Given the description of an element on the screen output the (x, y) to click on. 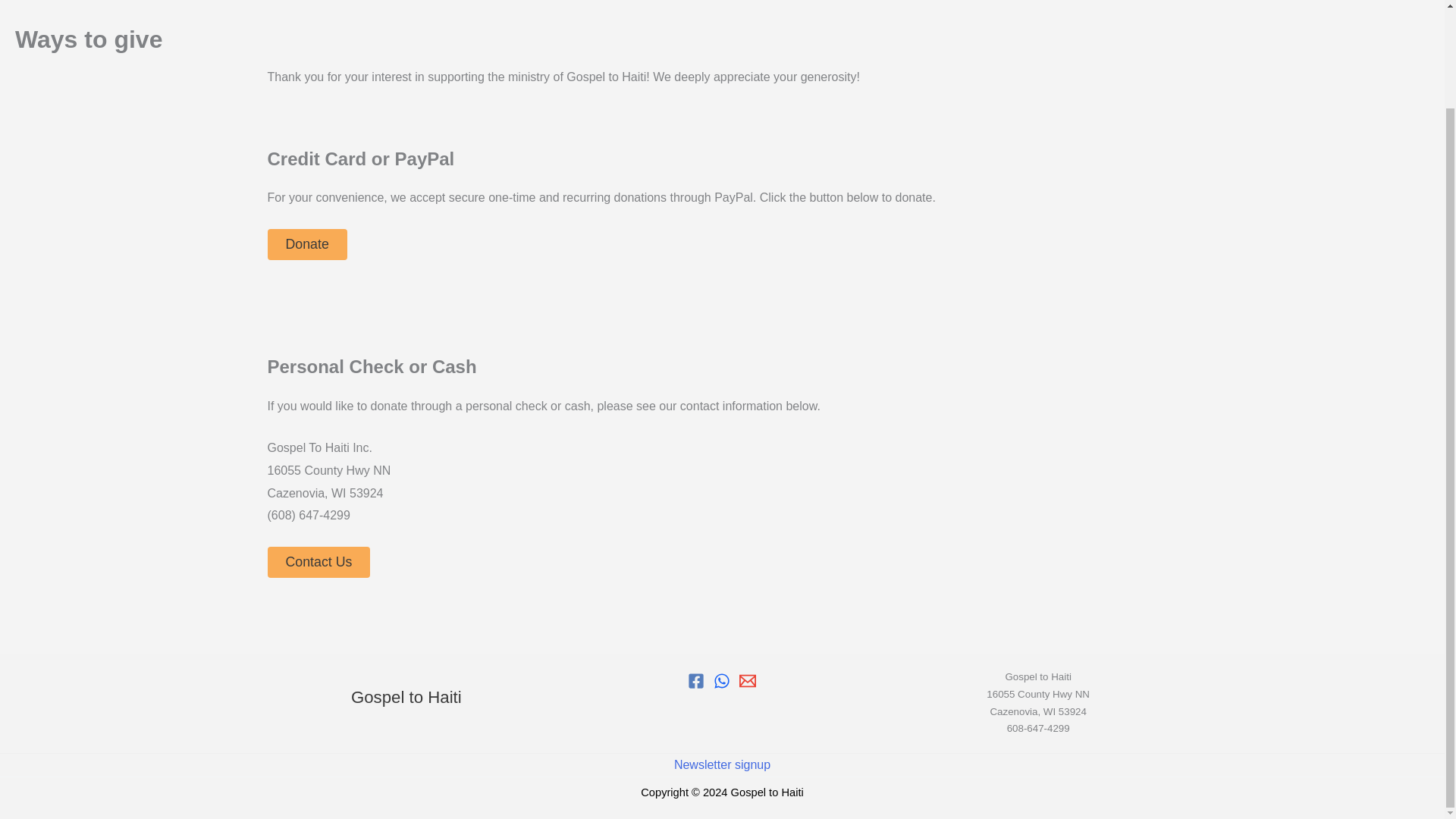
Newsletter signup (722, 764)
Contact Us (317, 562)
Donate (306, 245)
